Given the description of an element on the screen output the (x, y) to click on. 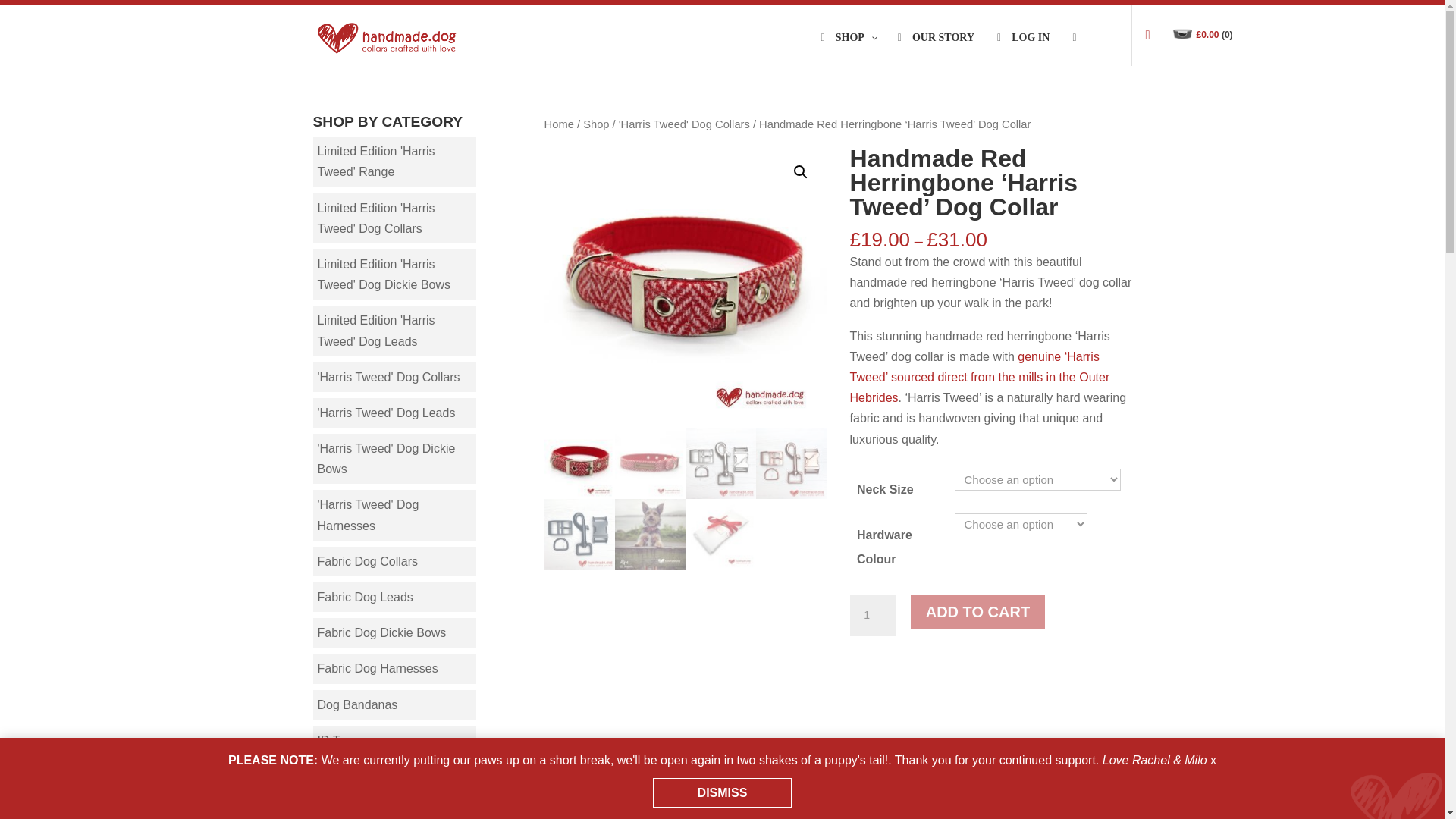
SHOP (847, 50)
1 (872, 615)
Our Story (935, 50)
OUR STORY (935, 50)
Shop (847, 50)
LOG IN (1023, 50)
